Given the description of an element on the screen output the (x, y) to click on. 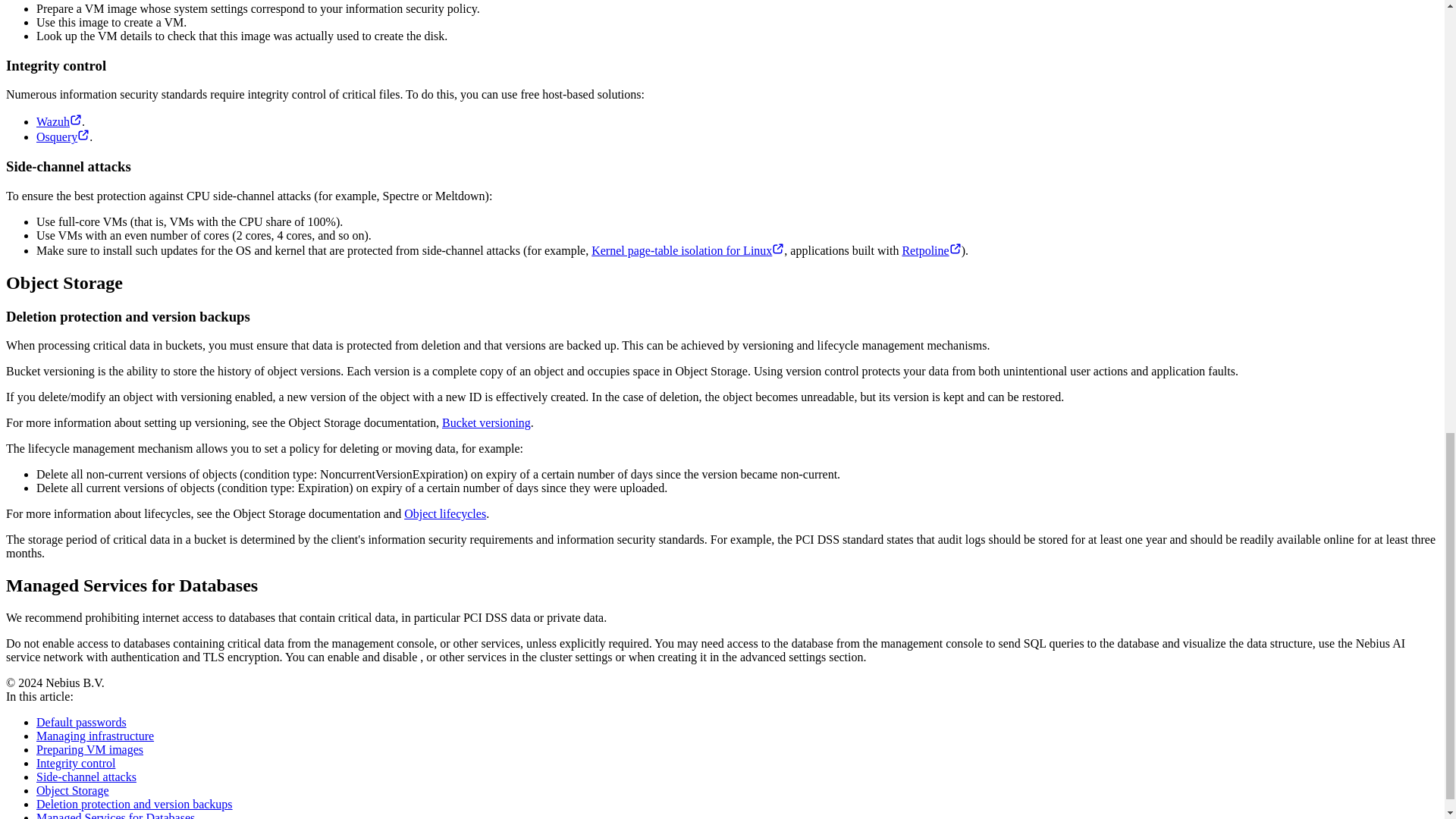
Wazuh (58, 121)
